Given the description of an element on the screen output the (x, y) to click on. 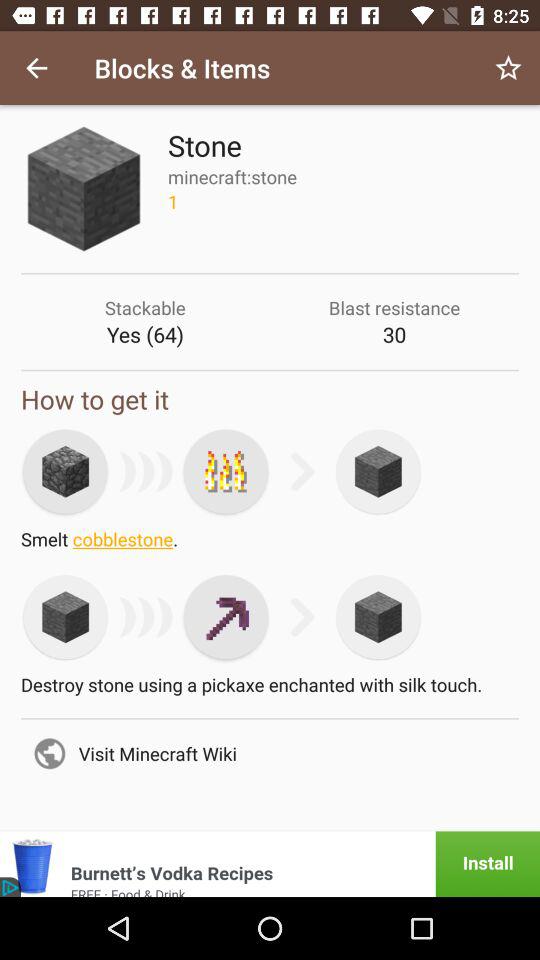
turn off the item next to the blocks & items (36, 68)
